Given the description of an element on the screen output the (x, y) to click on. 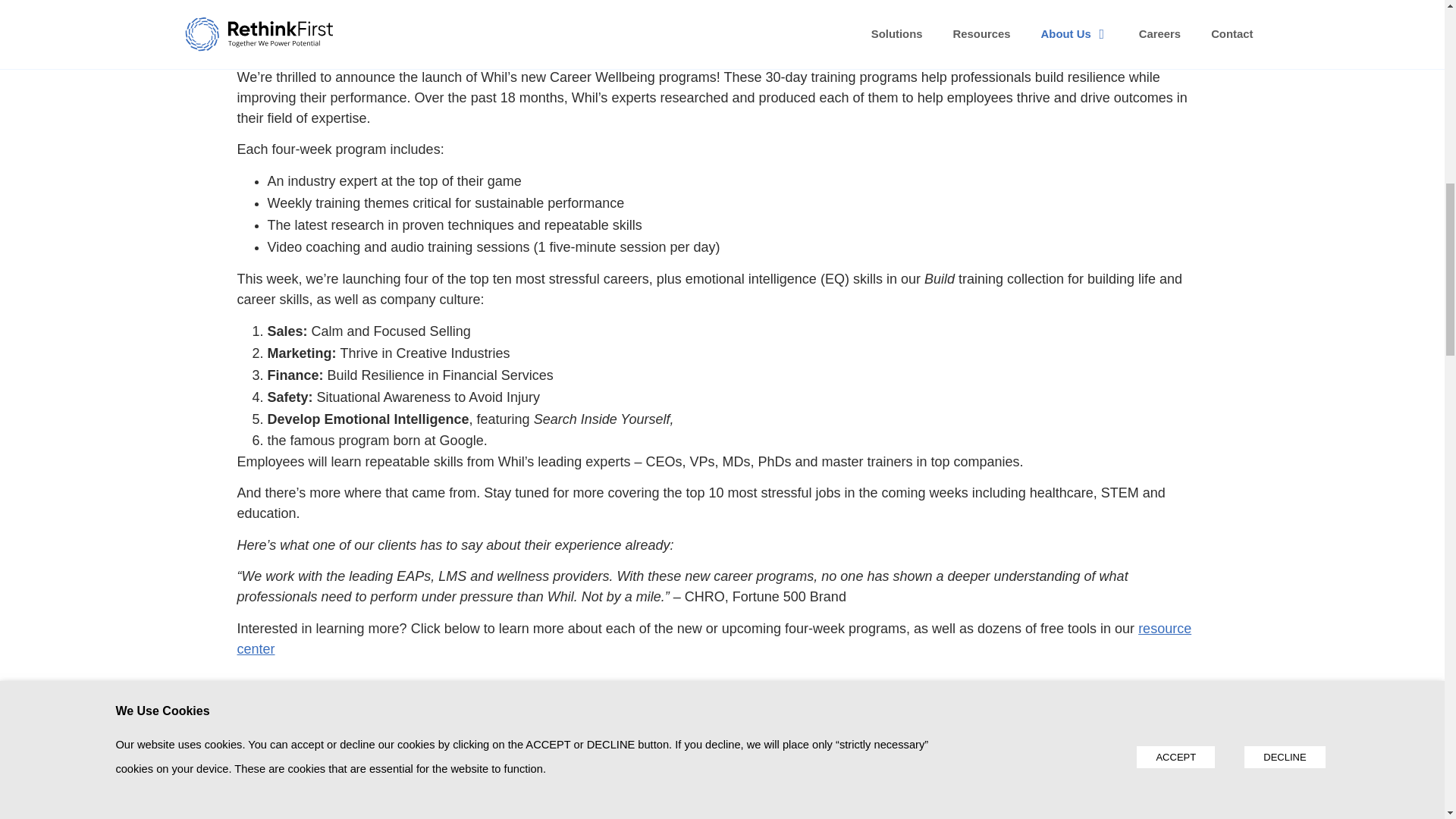
resource center (713, 638)
